Given the description of an element on the screen output the (x, y) to click on. 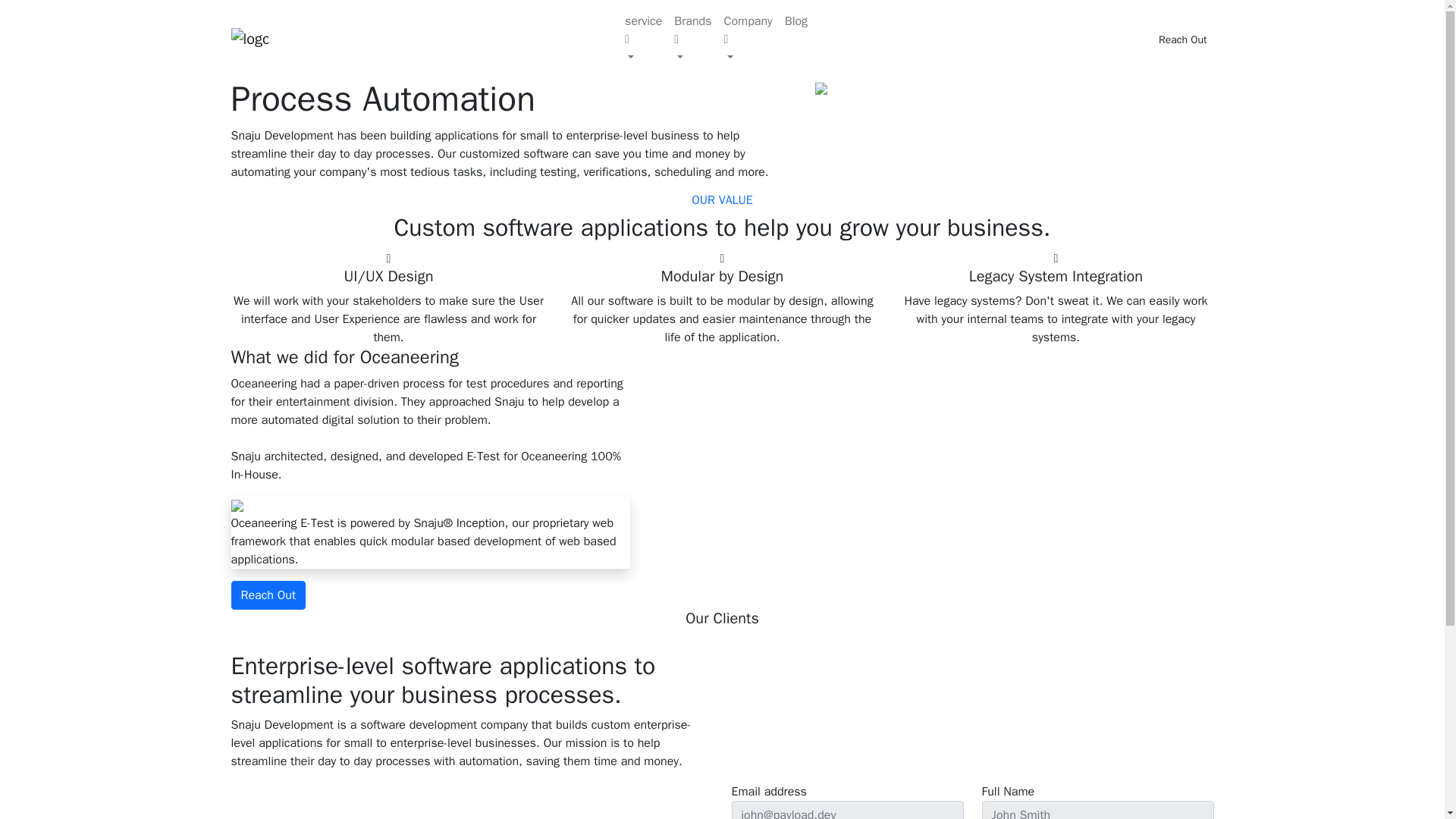
Company (747, 38)
Reach Out (267, 594)
Reach Out (1181, 38)
Blog (795, 20)
